Given the description of an element on the screen output the (x, y) to click on. 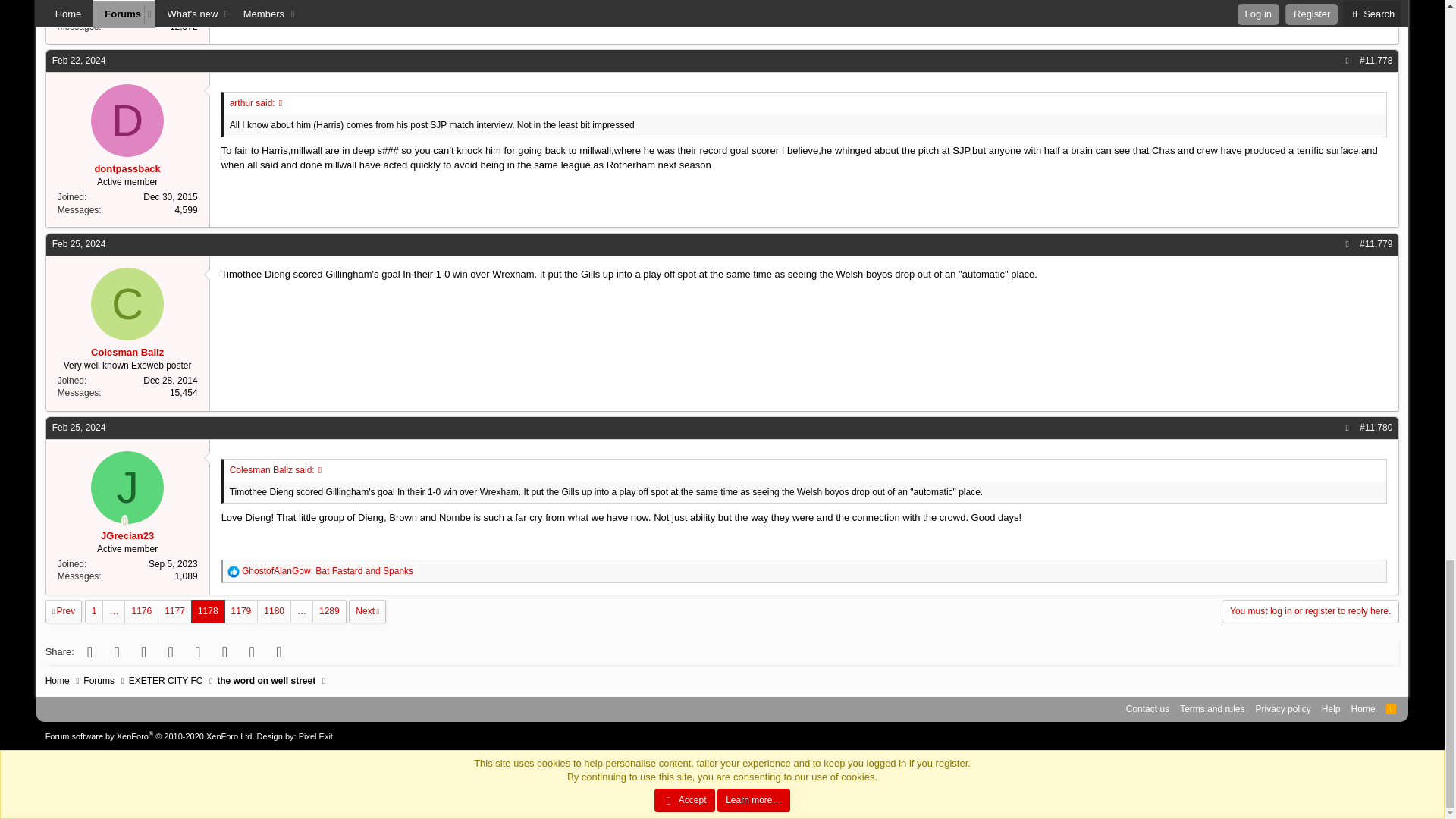
Feb 25, 2024 at 12:30 AM (79, 427)
Like (233, 571)
Feb 22, 2024 at 11:47 AM (79, 60)
Feb 25, 2024 at 12:19 AM (79, 244)
